Given the description of an element on the screen output the (x, y) to click on. 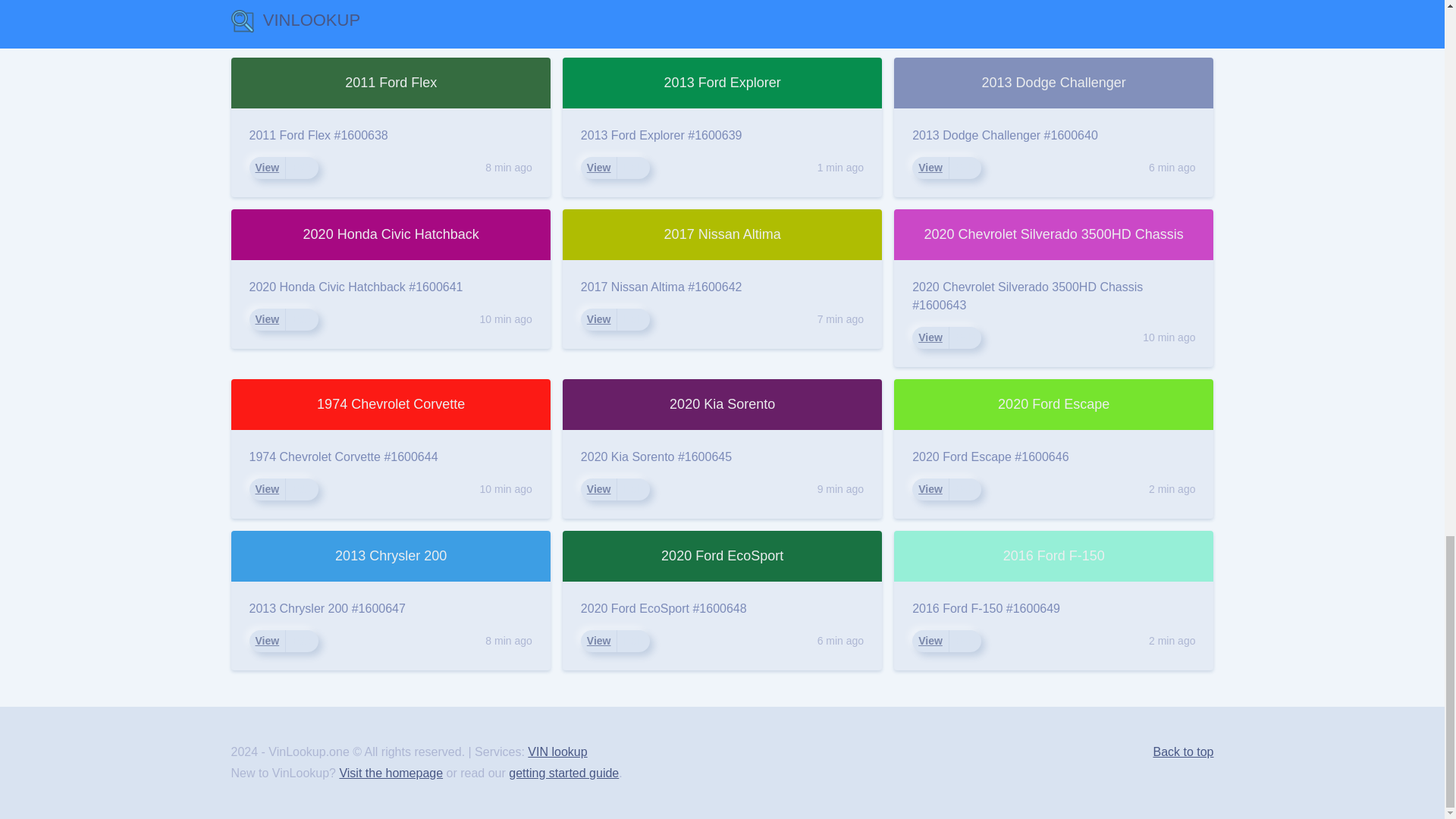
Edit (301, 640)
View (598, 167)
Edit (301, 489)
View (266, 167)
View (266, 489)
View (266, 640)
1974 Chevrolet Corvette (390, 404)
2020 Kia Sorento (722, 404)
View (930, 168)
2013 Dodge Challenger (1053, 82)
